Given the description of an element on the screen output the (x, y) to click on. 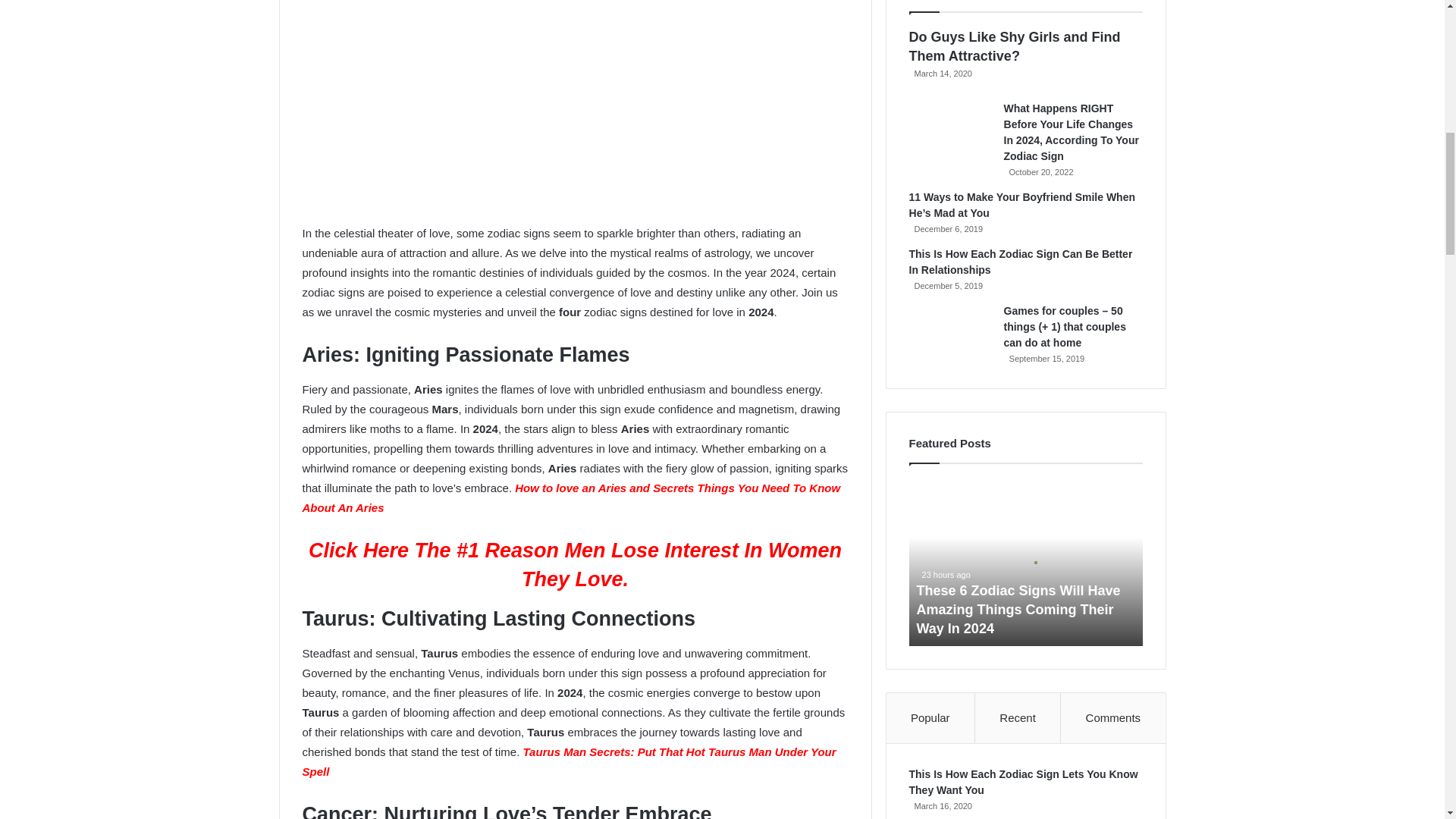
Taurus Man Secrets: Put That Hot Taurus Man Under Your Spell (568, 761)
